Given the description of an element on the screen output the (x, y) to click on. 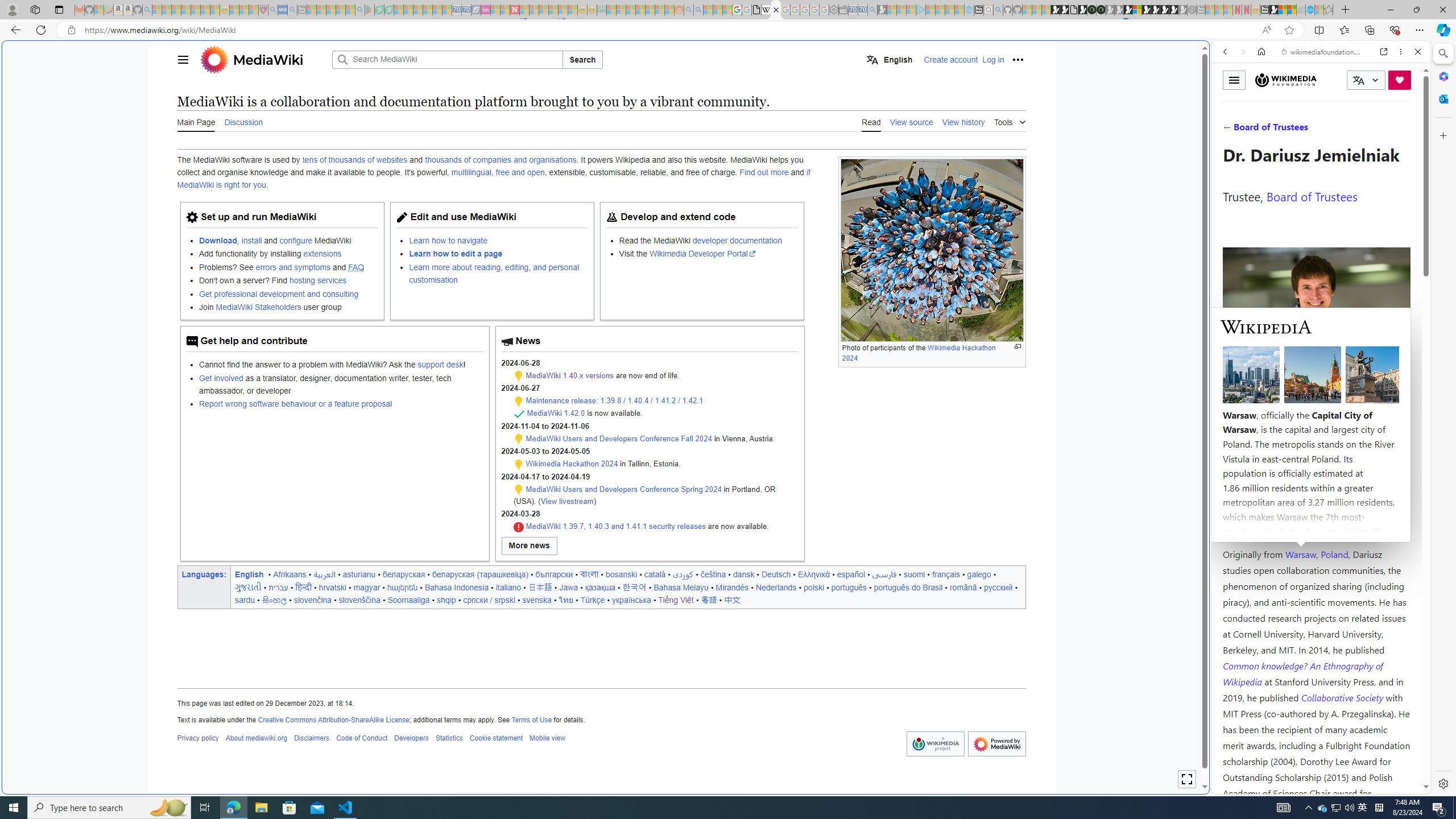
Log in (993, 58)
MediaWiki 1.42.0 (556, 412)
Privacy policy (197, 738)
Report wrong software behaviour or a feature proposal (340, 403)
Get professional development and consulting (288, 293)
View source (911, 121)
Download, install and configure MediaWiki (288, 239)
Read (870, 120)
